Given the description of an element on the screen output the (x, y) to click on. 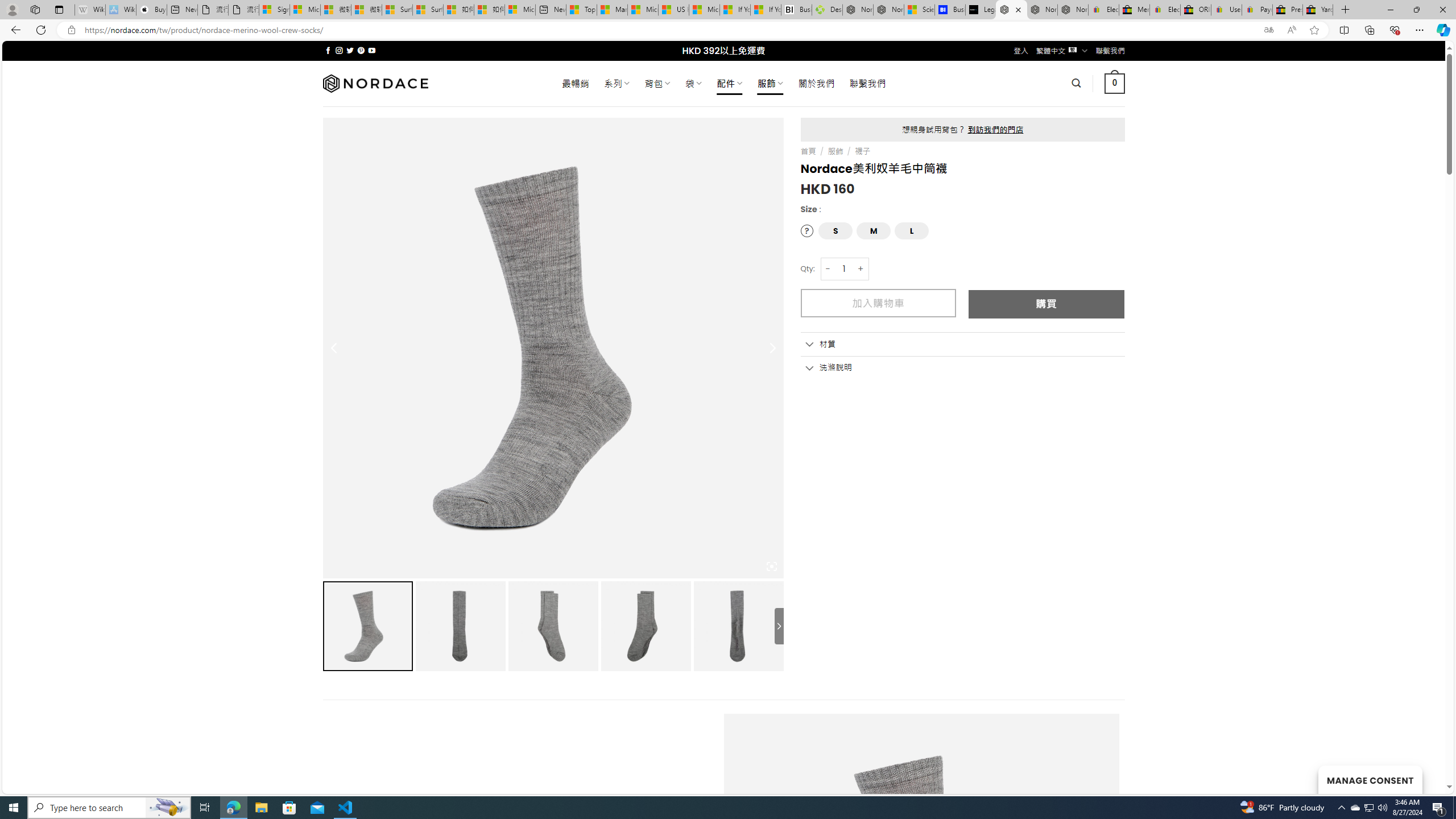
+ (861, 268)
Follow on Twitter (349, 50)
? (806, 230)
Payments Terms of Use | eBay.com (1256, 9)
Press Room - eBay Inc. (1287, 9)
Follow on YouTube (371, 50)
MANAGE CONSENT (1369, 779)
